Given the description of an element on the screen output the (x, y) to click on. 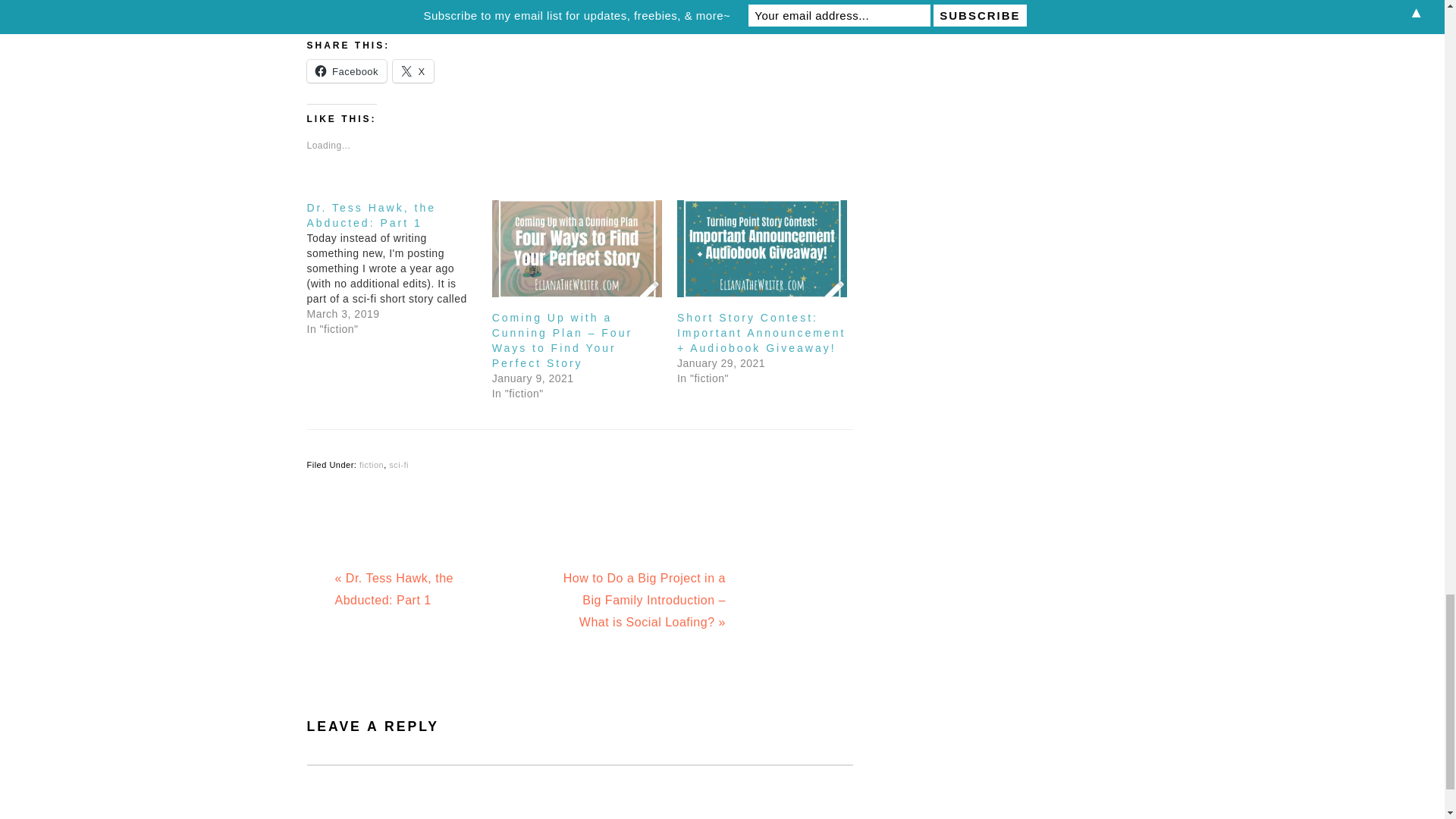
Dr. Tess Hawk, the Abducted: Part 1 (370, 215)
Click to share on Facebook (346, 70)
Facebook (346, 70)
sci-fi (398, 464)
Click to share on X (413, 70)
fiction (371, 464)
Dr. Tess Hawk, the Abducted: Part 1 (370, 215)
Dr. Tess Hawk, the Abducted: Part 1 (398, 267)
X (413, 70)
